Given the description of an element on the screen output the (x, y) to click on. 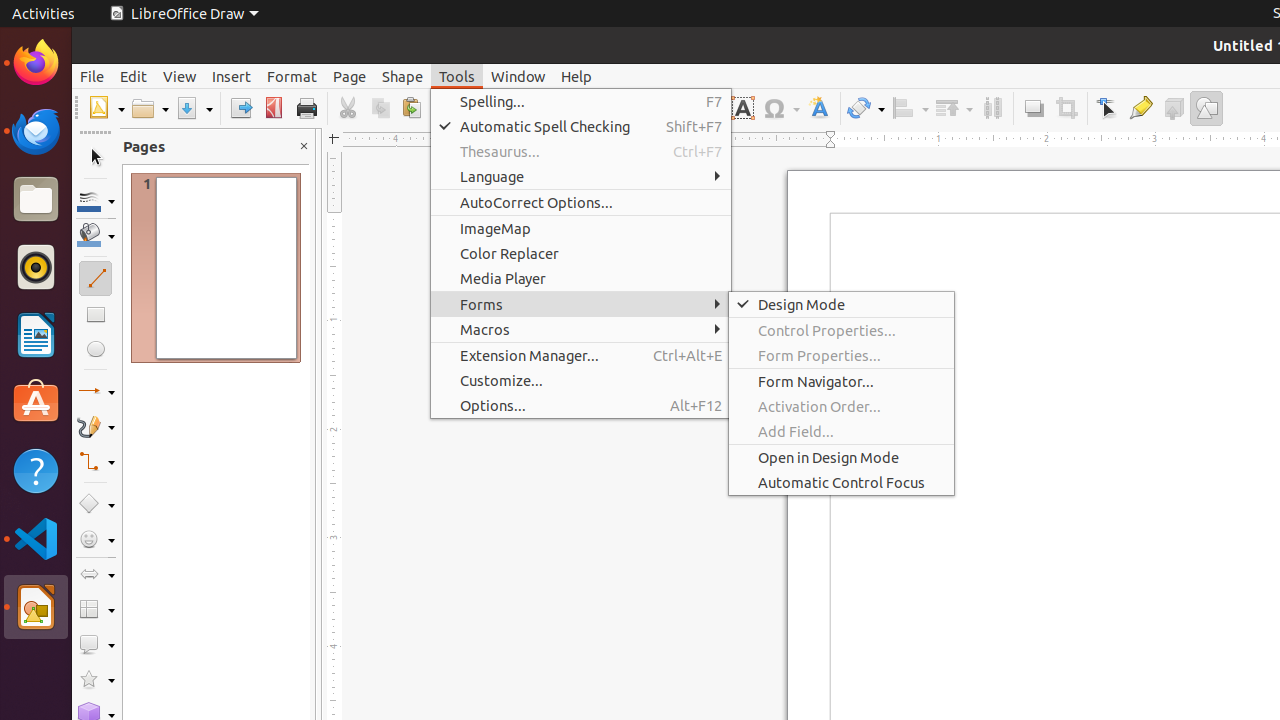
Shape Element type: menu (402, 76)
Align Element type: push-button (910, 108)
Print Element type: push-button (306, 108)
Media Player Element type: check-menu-item (581, 278)
Copy Element type: push-button (380, 108)
